Given the description of an element on the screen output the (x, y) to click on. 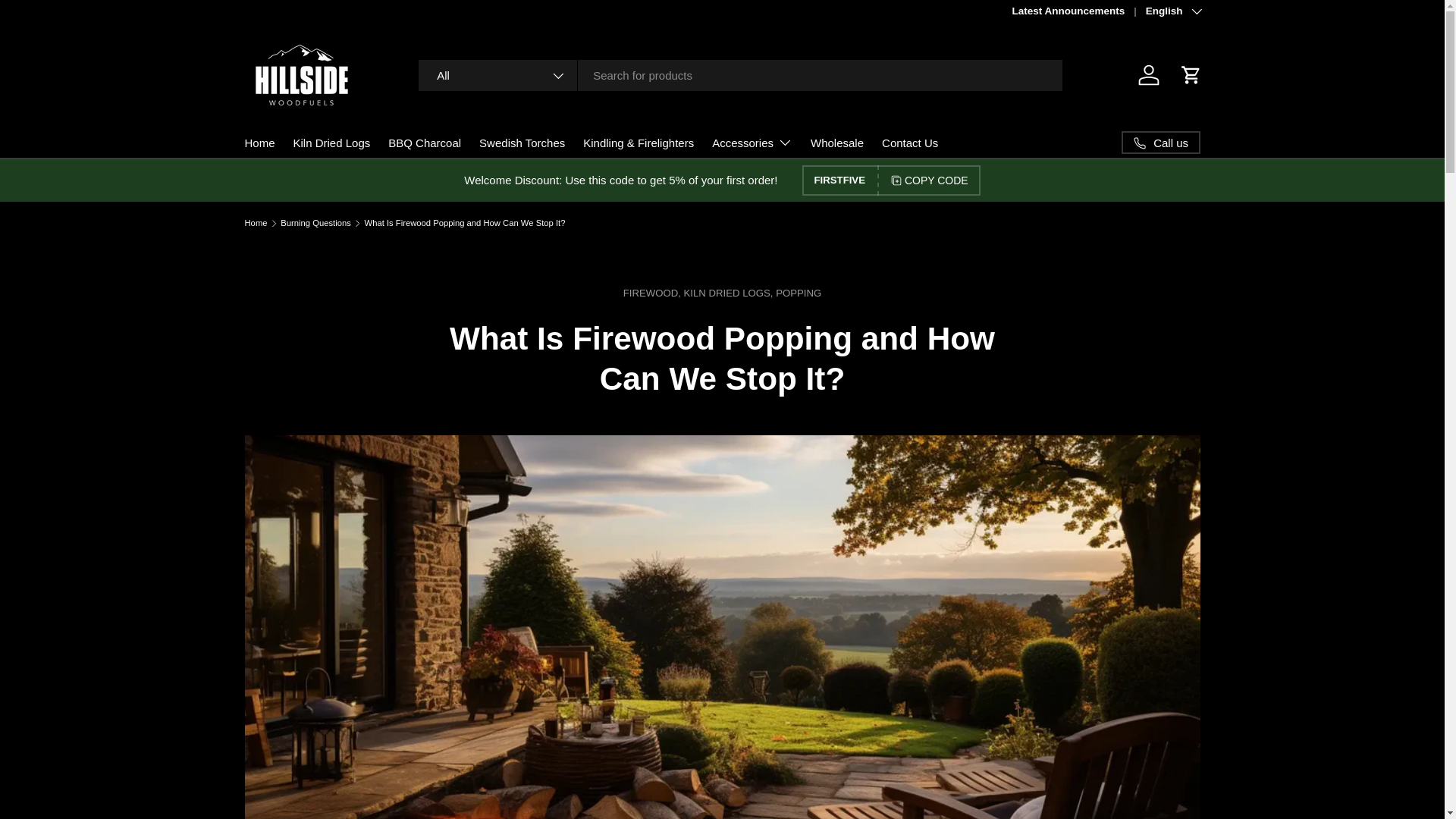
Home (259, 143)
What Is Firewood Popping and How Can We Stop It? (465, 223)
Latest Announcements (1077, 11)
KILN DRIED LOGS, (730, 292)
Swedish Torches (521, 143)
Call us (1160, 142)
English (1172, 11)
Home (255, 223)
Log in (1147, 74)
Accessories (751, 142)
